Given the description of an element on the screen output the (x, y) to click on. 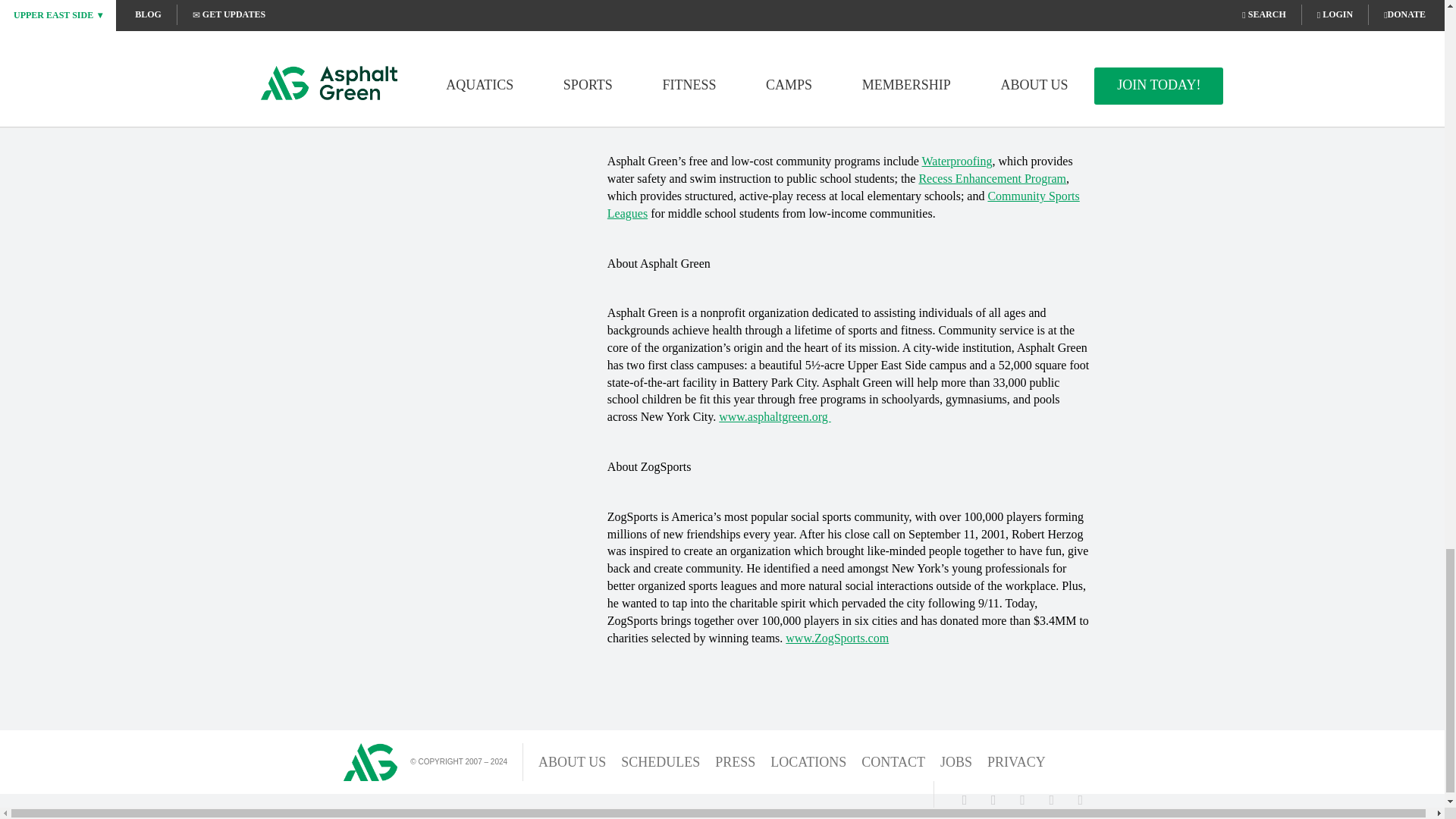
Foursquare (1051, 799)
Instagram (1022, 799)
Facebook (964, 799)
Yelp (1079, 799)
Twitter (993, 799)
